Given the description of an element on the screen output the (x, y) to click on. 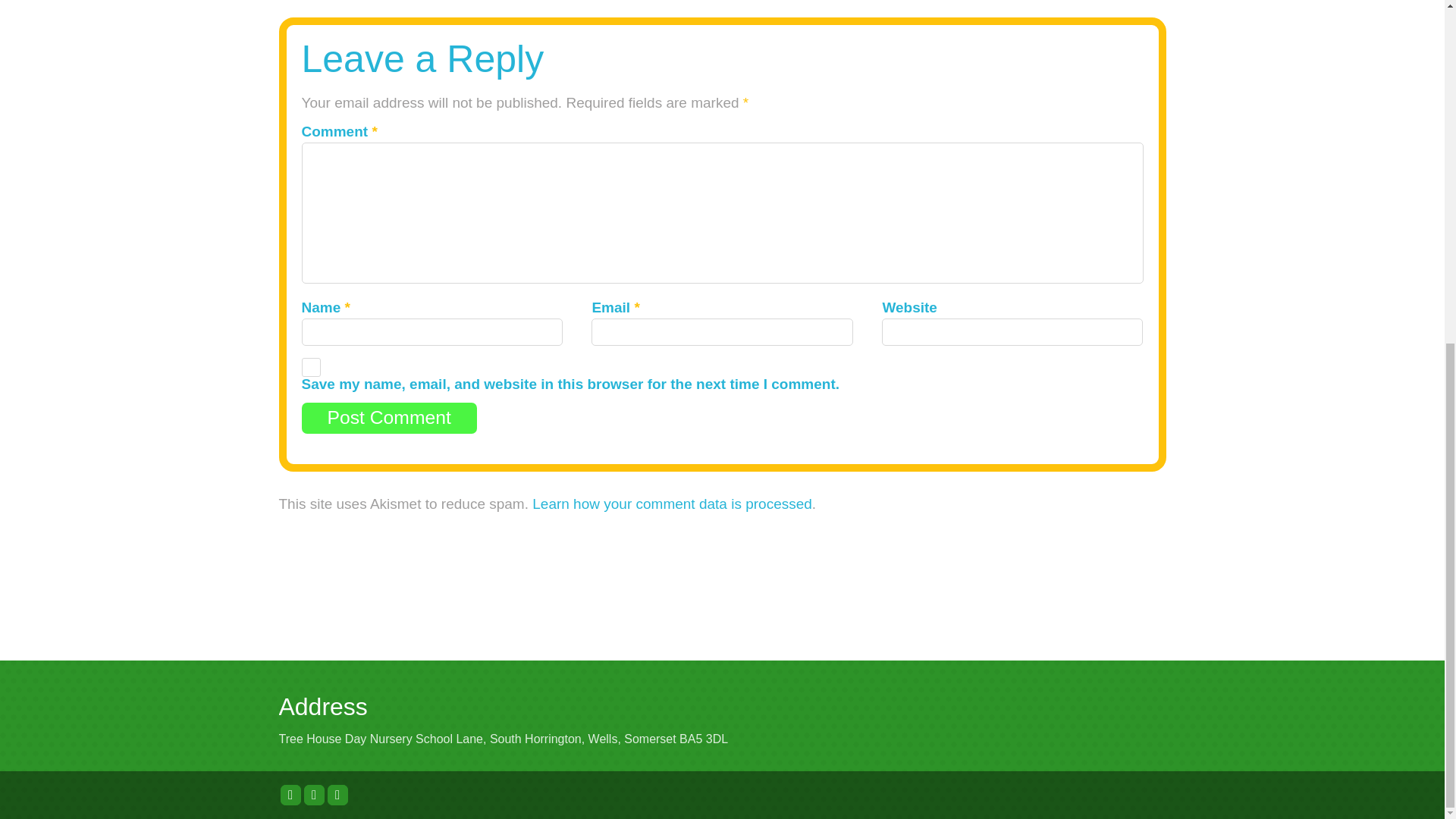
Learn how your comment data is processed (672, 504)
Feed (337, 794)
Post Comment (389, 418)
yes (310, 366)
Facebook (314, 794)
Twitter (291, 794)
Post Comment (389, 418)
